Given the description of an element on the screen output the (x, y) to click on. 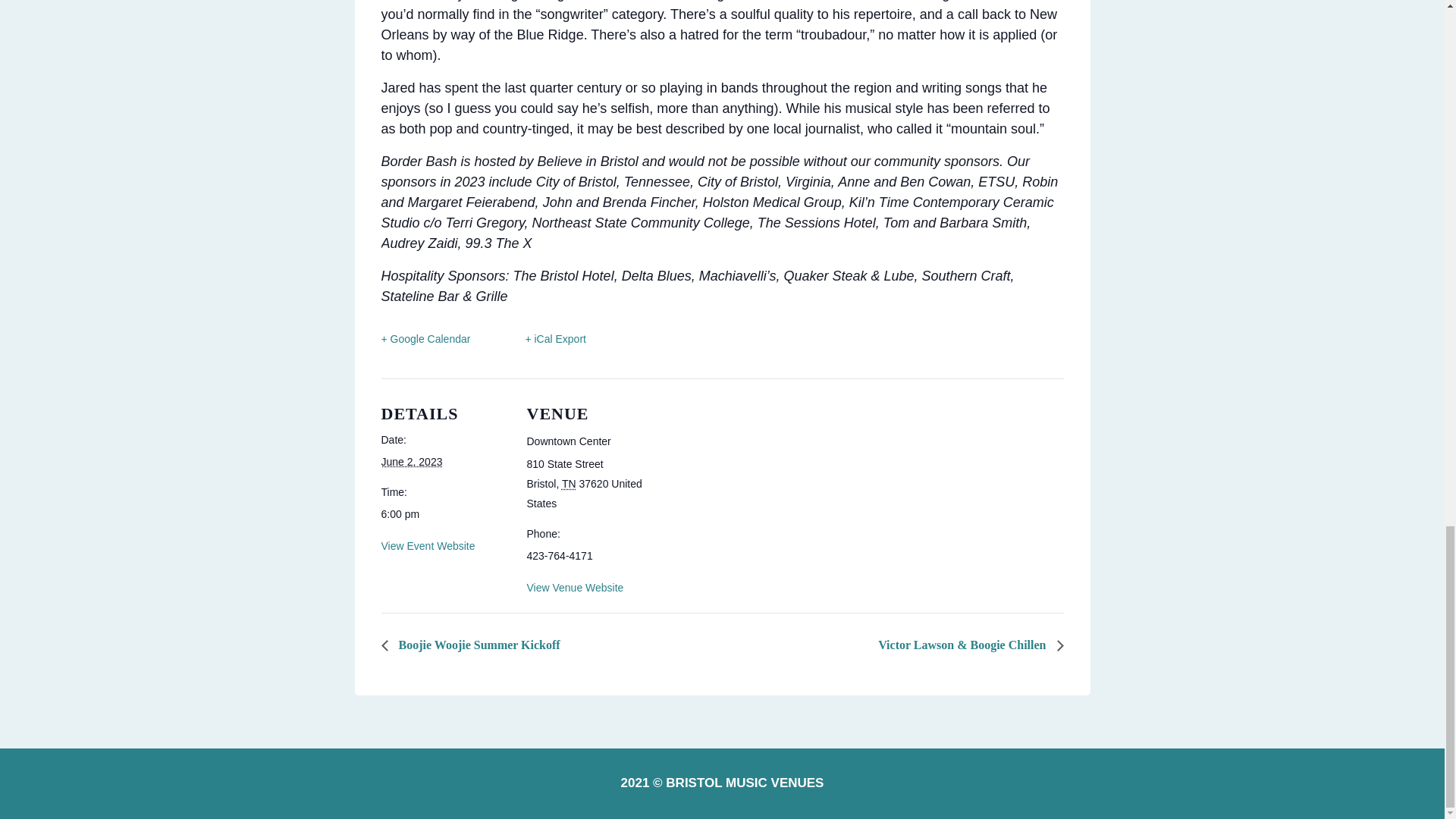
2023-06-02 (411, 461)
View Venue Website (574, 587)
View Event Website (427, 545)
2023-06-02 (444, 514)
Boojie Woojie Summer Kickoff (473, 644)
Tennessee (569, 483)
Add to Google Calendar (425, 339)
Download .ics file (543, 339)
